Given the description of an element on the screen output the (x, y) to click on. 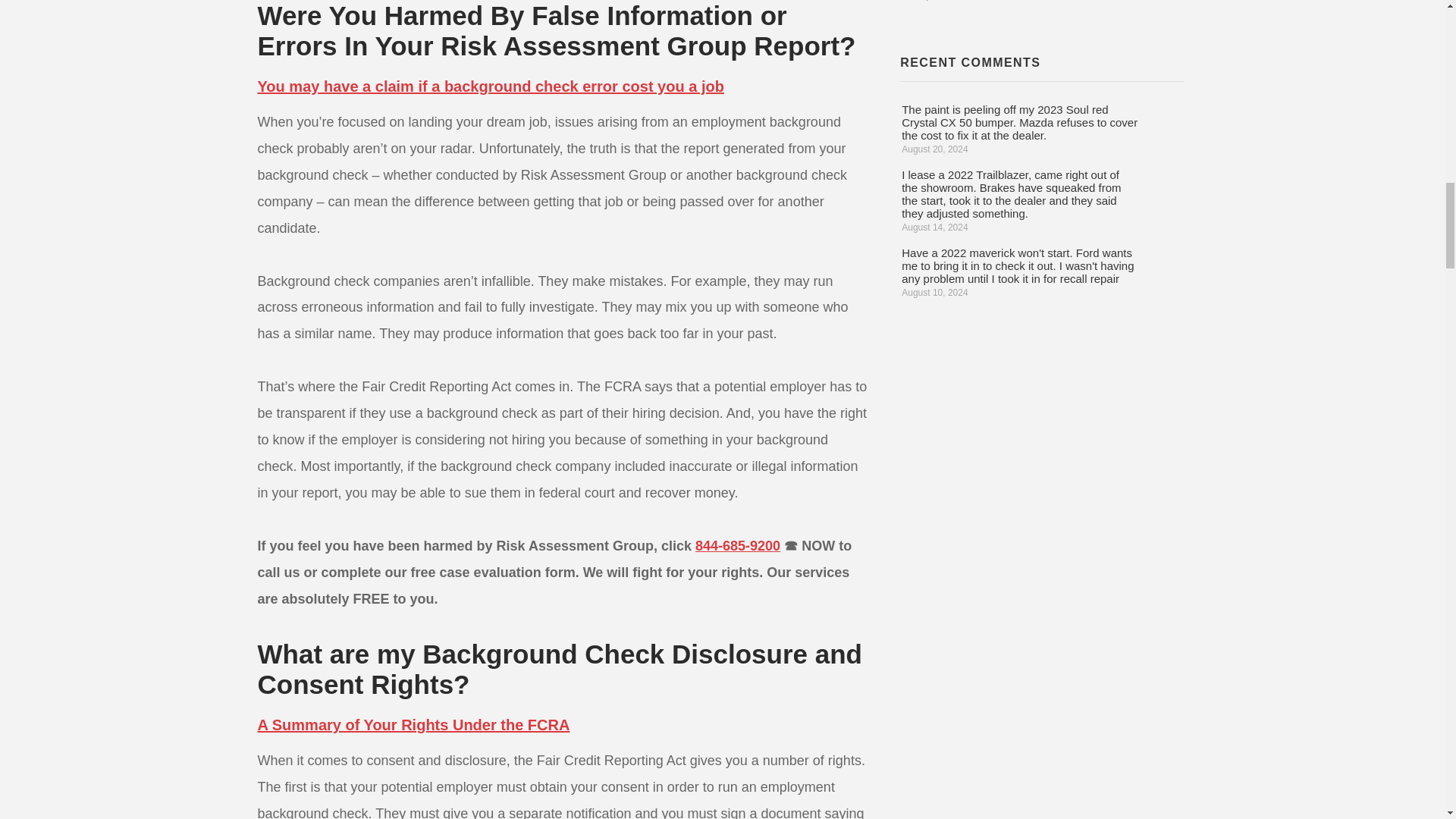
844-685-9200 (737, 545)
A Summary of Your Rights Under the FCRA (413, 724)
